Given the description of an element on the screen output the (x, y) to click on. 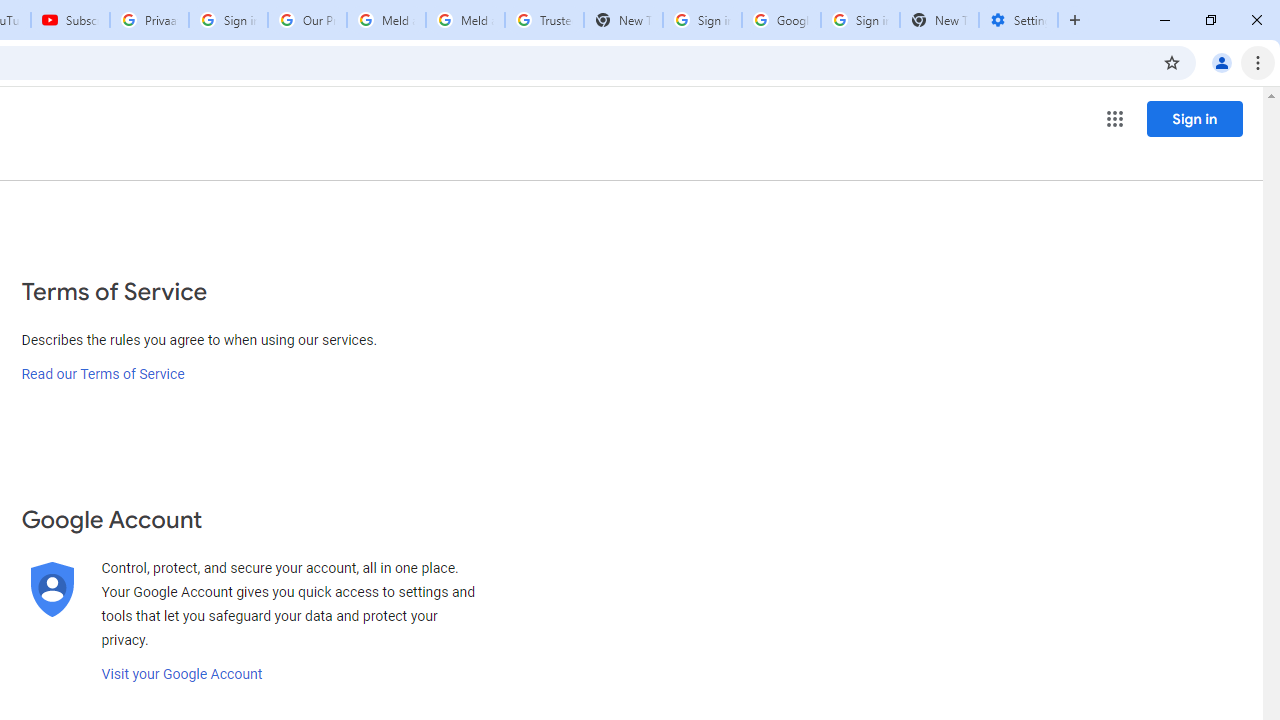
New Tab (939, 20)
Sign in - Google Accounts (859, 20)
Trusted Information and Content - Google Safety Center (544, 20)
Read our Terms of Service (102, 374)
Settings - Addresses and more (1018, 20)
Visit your Google Account (181, 674)
Subscriptions - YouTube (70, 20)
